Given the description of an element on the screen output the (x, y) to click on. 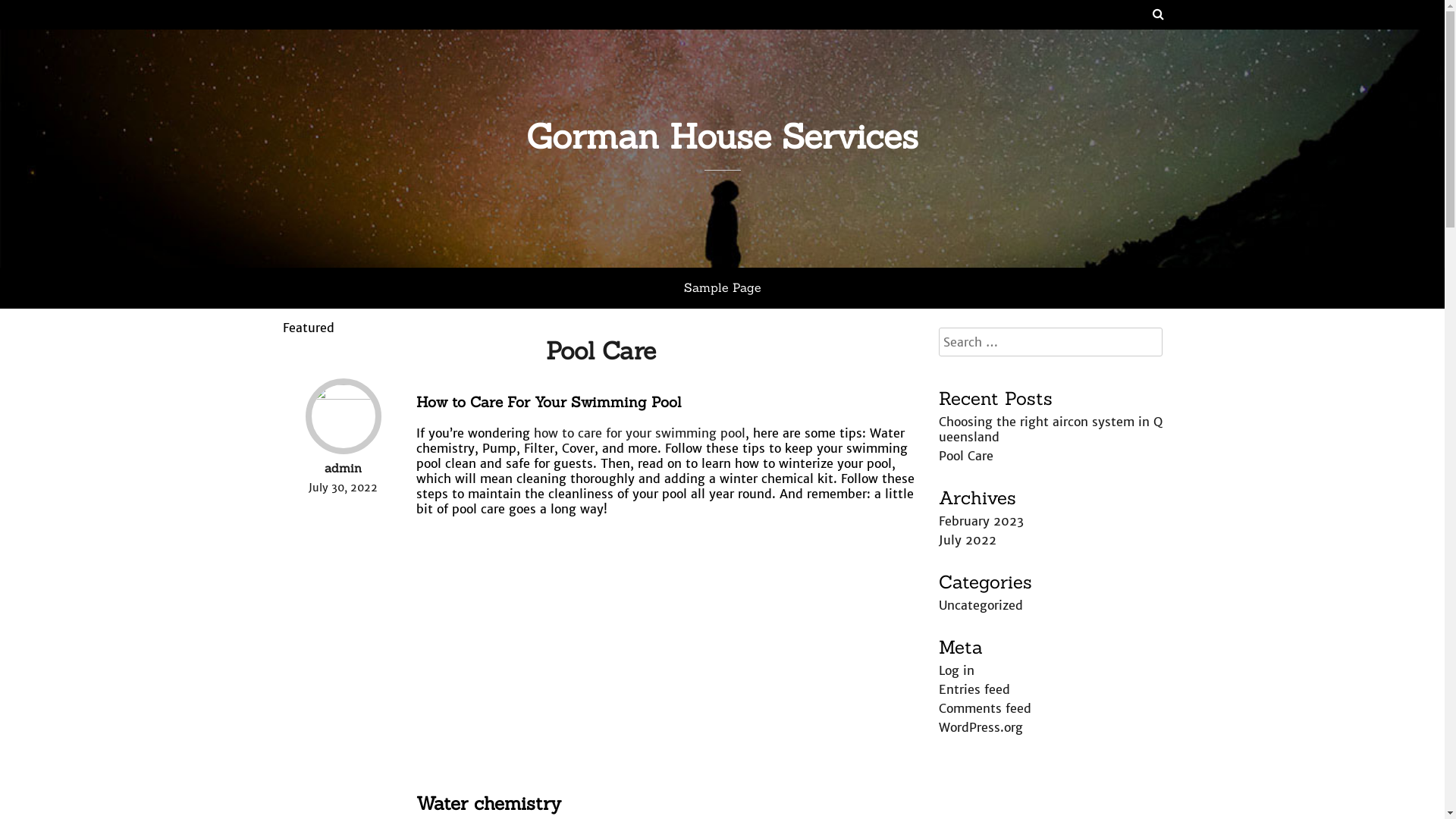
admin Element type: text (342, 467)
July 2022 Element type: text (967, 539)
Pool Care Element type: text (600, 350)
Entries feed Element type: text (974, 688)
YouTube video player Element type: hover (628, 653)
Search Element type: text (20, 10)
Comments feed Element type: text (984, 707)
Choosing the right aircon system in Queensland Element type: text (1050, 429)
Uncategorized Element type: text (980, 604)
Gorman House Services Element type: text (722, 135)
July 30, 2022 Element type: text (342, 487)
Pool Care Element type: text (965, 455)
Log in Element type: text (956, 669)
WordPress.org Element type: text (980, 726)
Sample Page Element type: text (722, 288)
February 2023 Element type: text (980, 520)
how to care for your swimming pool Element type: text (639, 432)
